Given the description of an element on the screen output the (x, y) to click on. 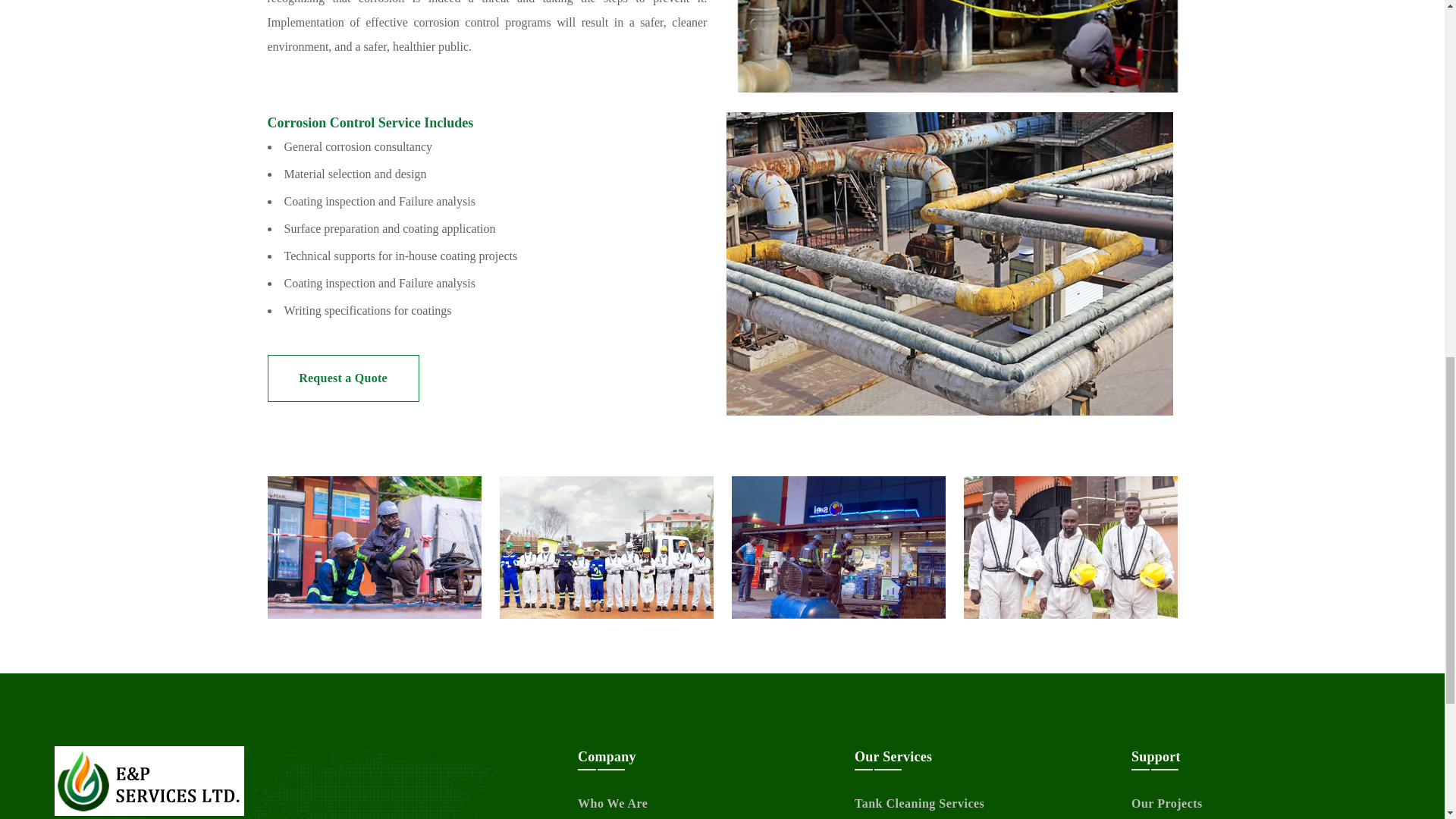
3 (837, 547)
ccs1 (956, 46)
4 (1069, 547)
2 (606, 547)
